Given the description of an element on the screen output the (x, y) to click on. 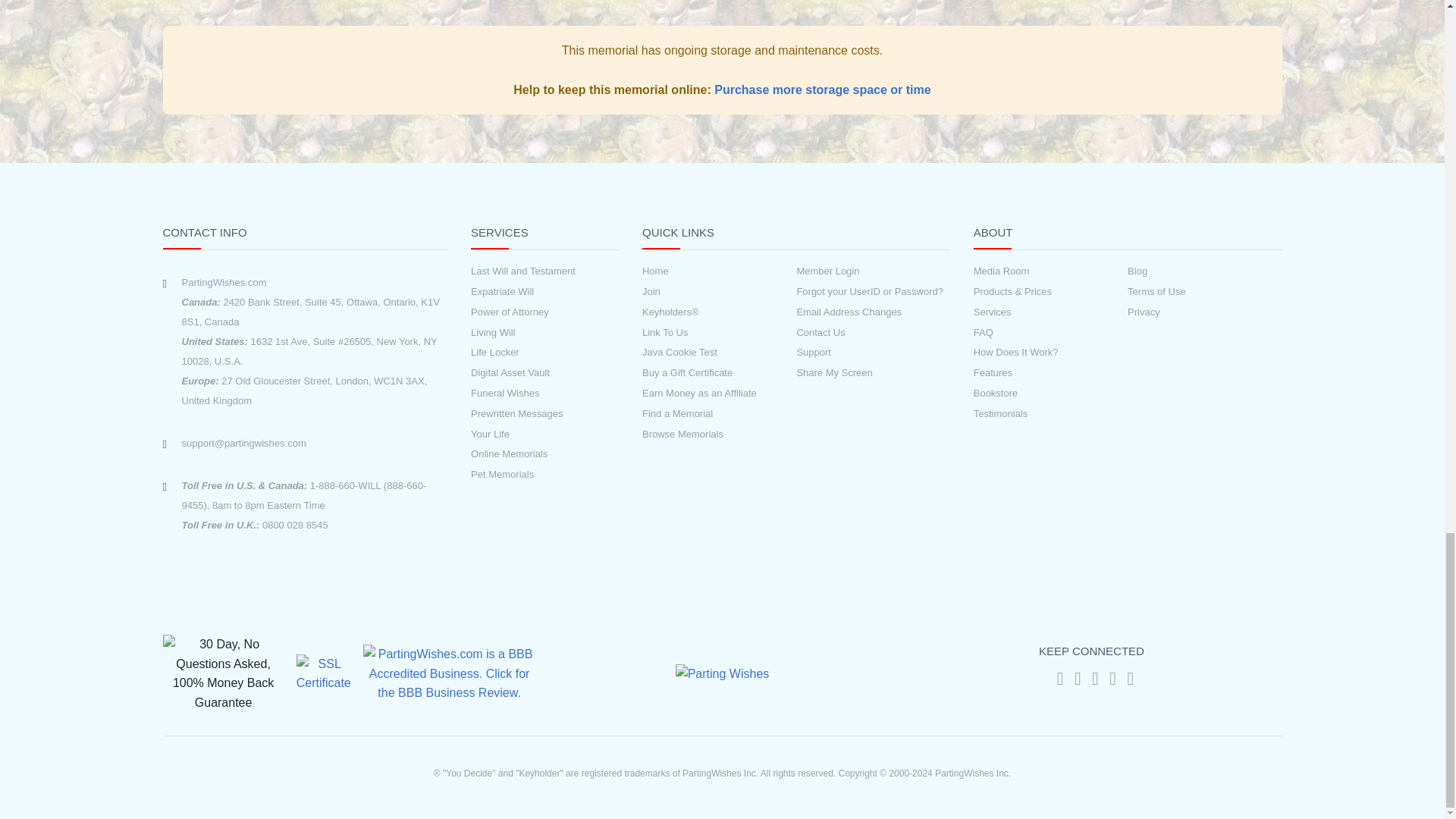
Pet Memorials (522, 474)
Online Memorials (522, 454)
Join (719, 292)
Life Locker (522, 352)
QUICK LINKS (796, 236)
Create an online memorial (522, 454)
CONTACT INFO (304, 236)
Purchase more storage space or time (822, 89)
Living Will (522, 333)
Create your Life Locker (522, 352)
